Given the description of an element on the screen output the (x, y) to click on. 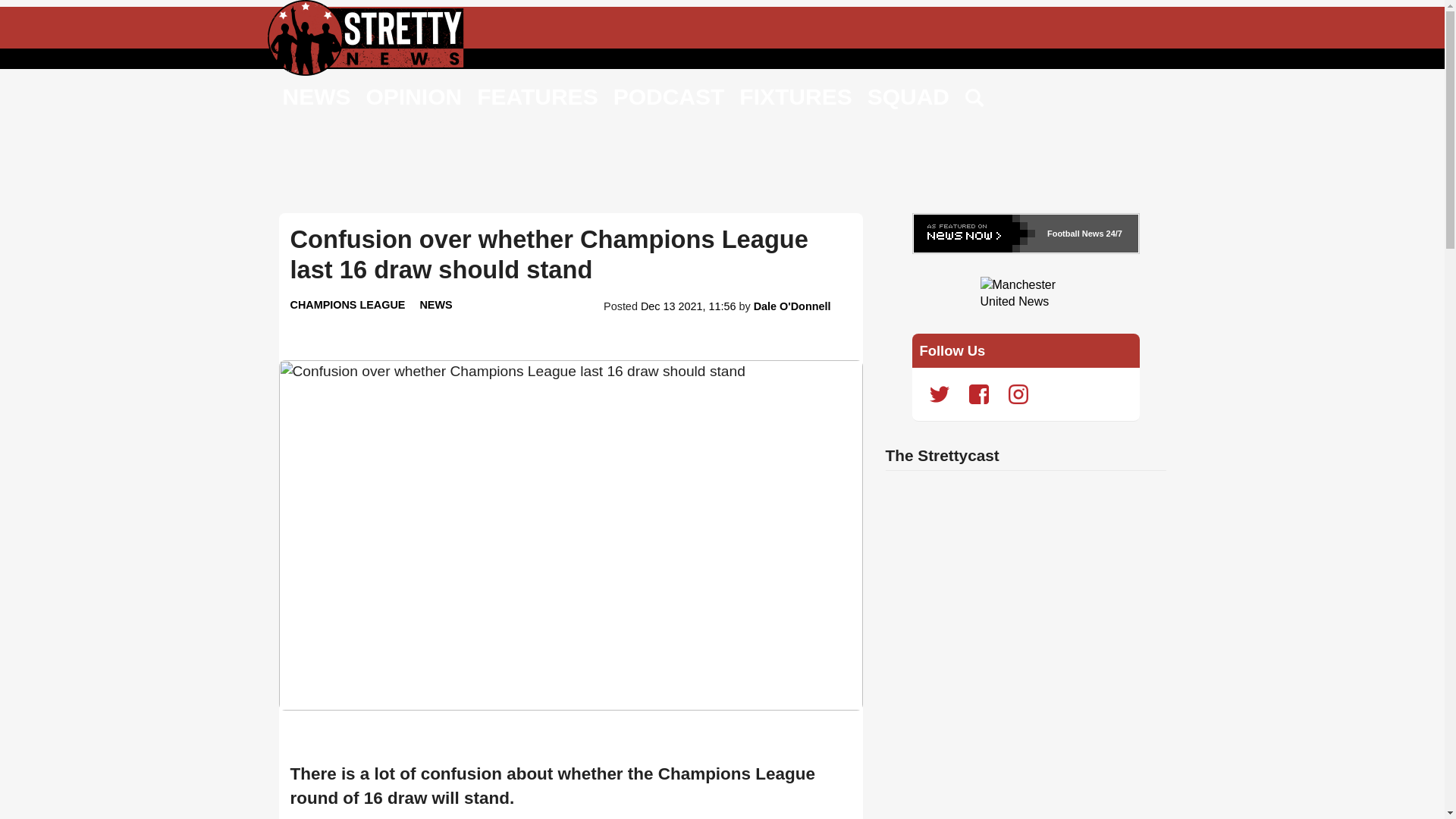
SQUAD (908, 95)
NEWS (316, 95)
CHAMPIONS LEAGUE (346, 304)
Dec 13 2021, 11:56 (688, 306)
Latest News News (435, 304)
OPINION (413, 95)
Search (975, 98)
FEATURES (536, 95)
PODCAST (668, 95)
NEWS (435, 304)
View more articles by Dale O'Donnell (792, 306)
Latest Champions League News (346, 304)
FIXTURES (795, 95)
Dale O'Donnell (792, 306)
